Given the description of an element on the screen output the (x, y) to click on. 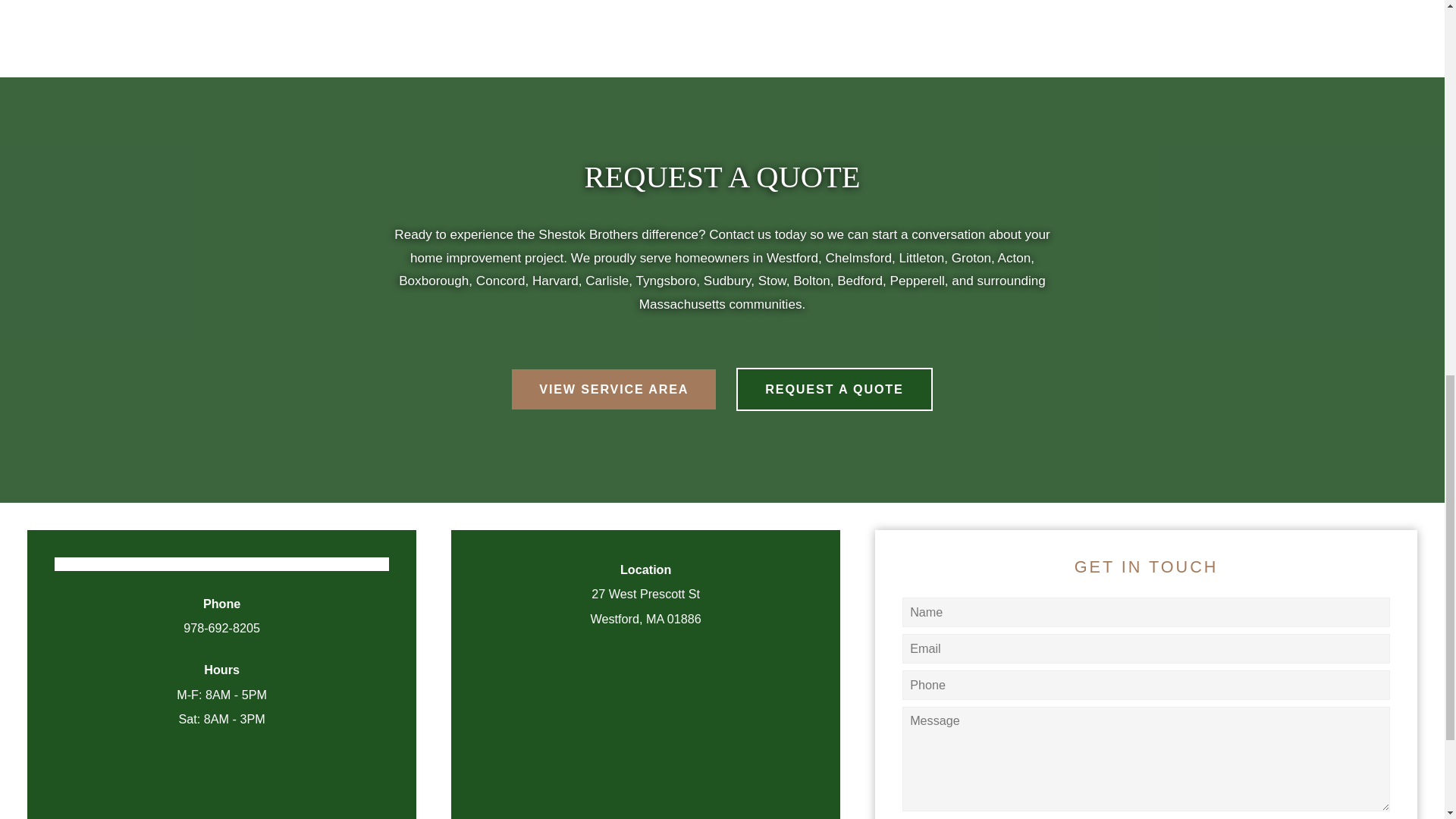
978-692-8205 (221, 627)
REQUEST A QUOTE (833, 388)
VIEW SERVICE AREA (614, 388)
